Given the description of an element on the screen output the (x, y) to click on. 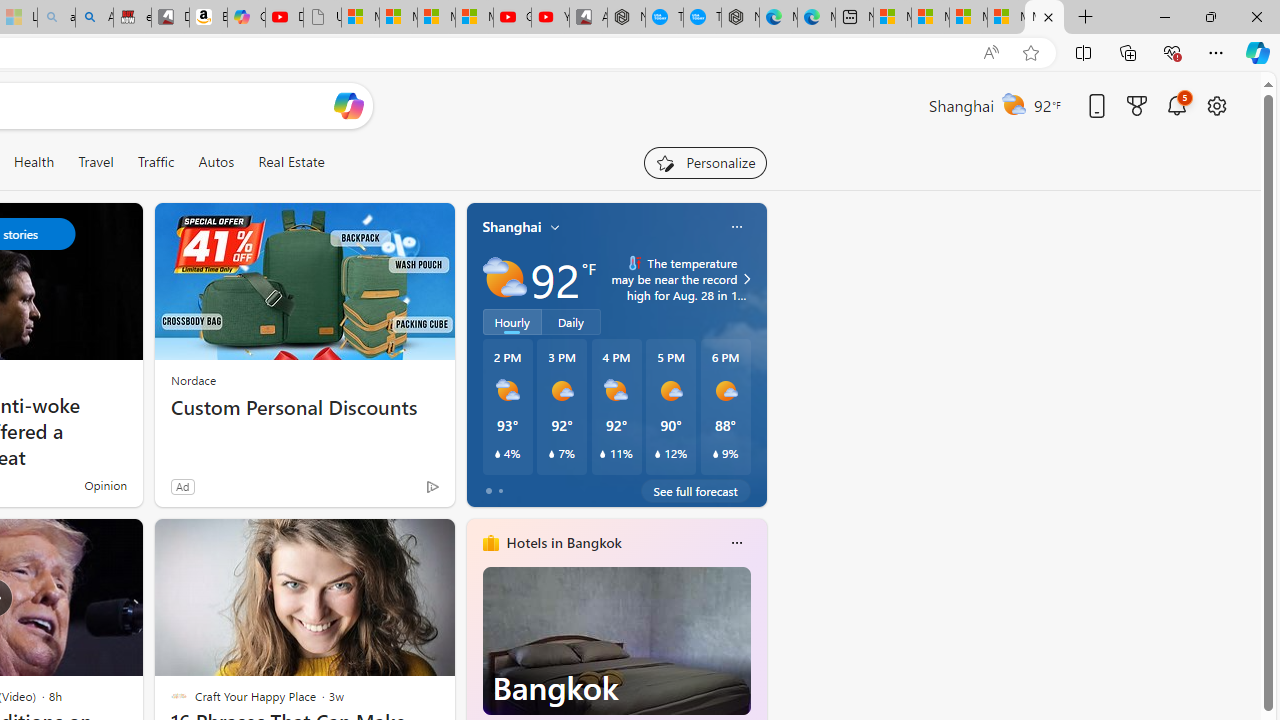
My location (555, 227)
Daily (571, 321)
